Given the description of an element on the screen output the (x, y) to click on. 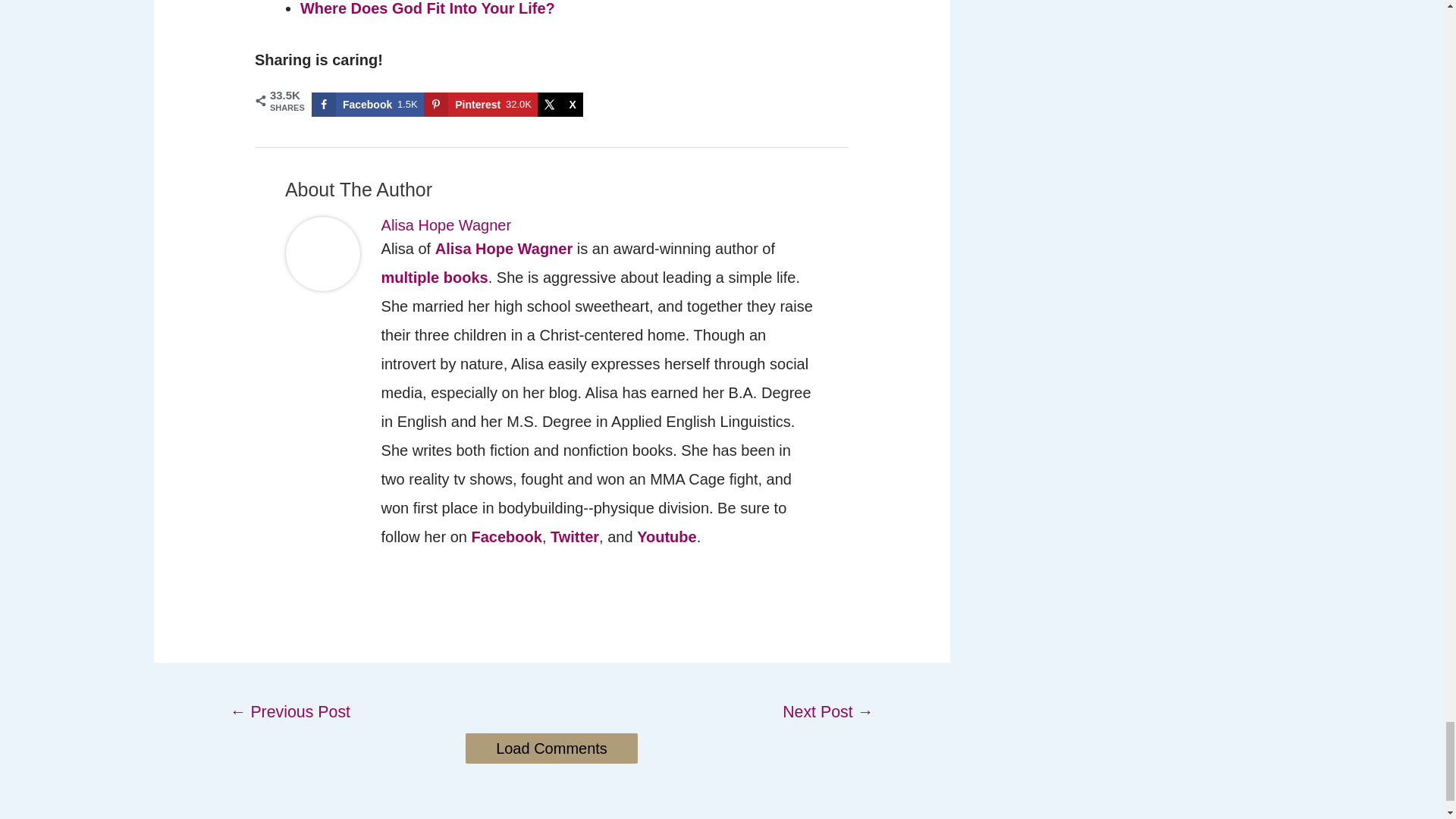
Save to Pinterest (480, 104)
Share on X (559, 104)
Share on Facebook (367, 104)
